Given the description of an element on the screen output the (x, y) to click on. 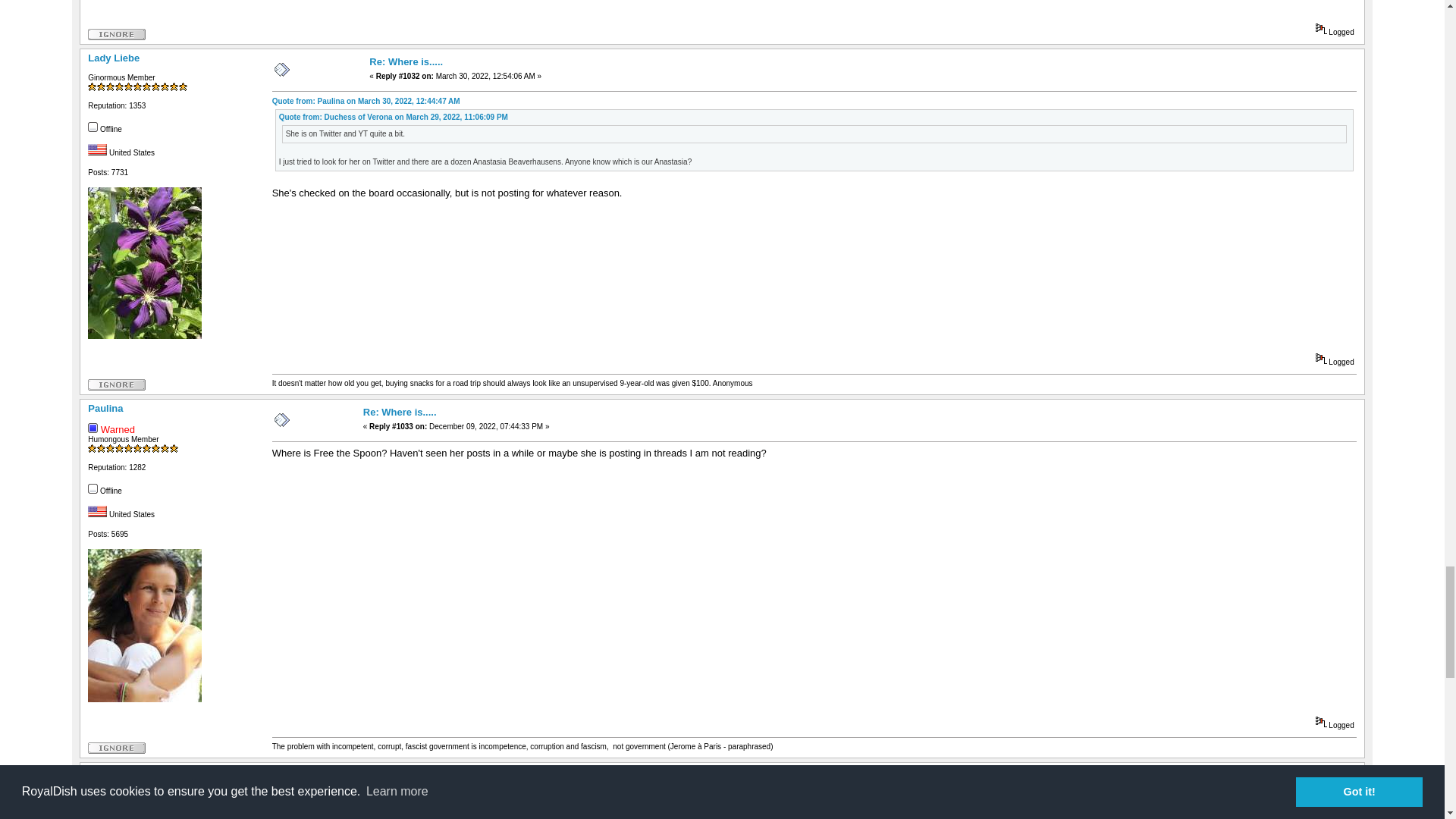
View the profile of Paulina (104, 408)
View the profile of Lady Liebe (113, 771)
View the profile of Lady Liebe (113, 57)
